Given the description of an element on the screen output the (x, y) to click on. 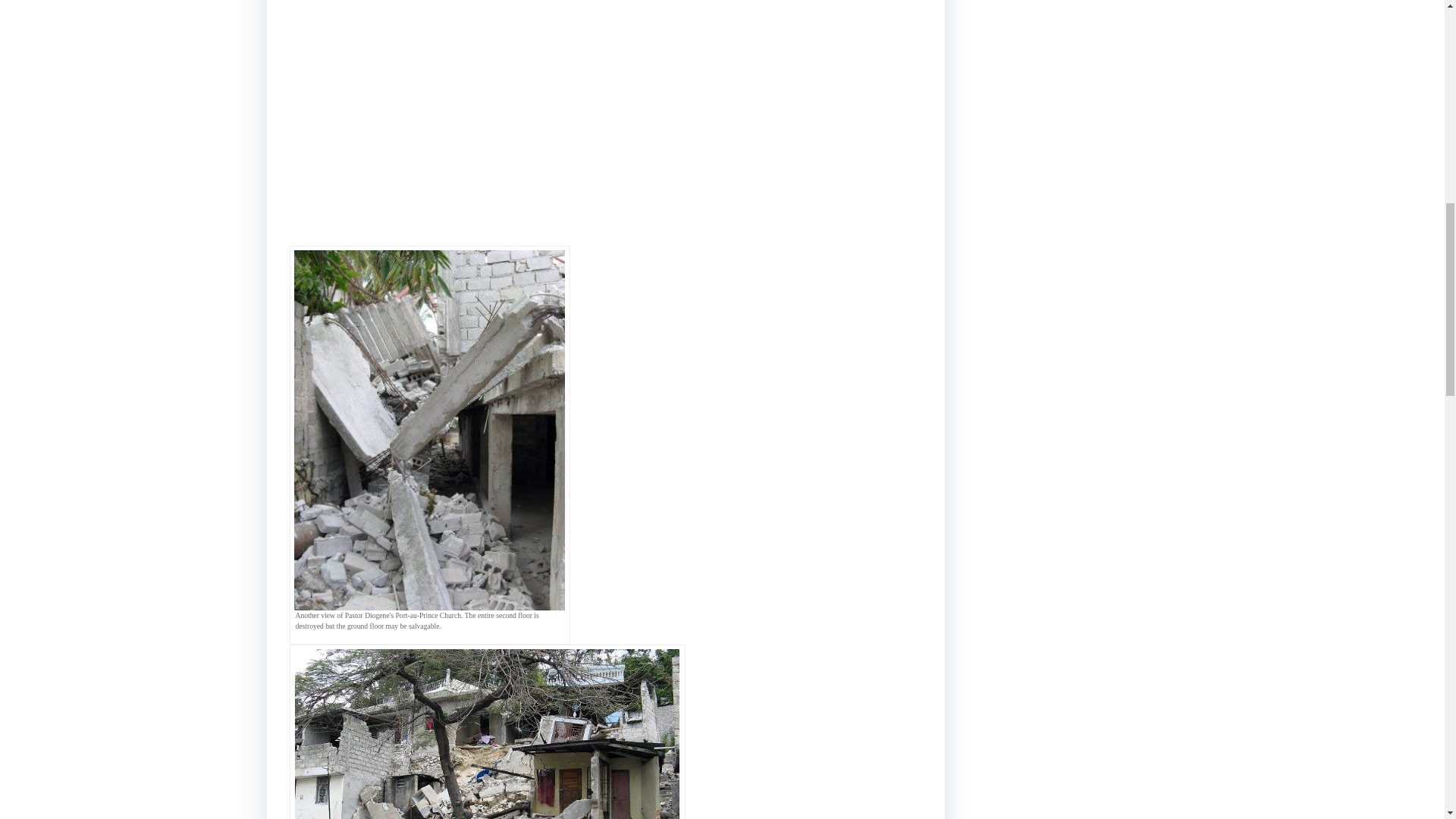
eq1 (486, 734)
